Given the description of an element on the screen output the (x, y) to click on. 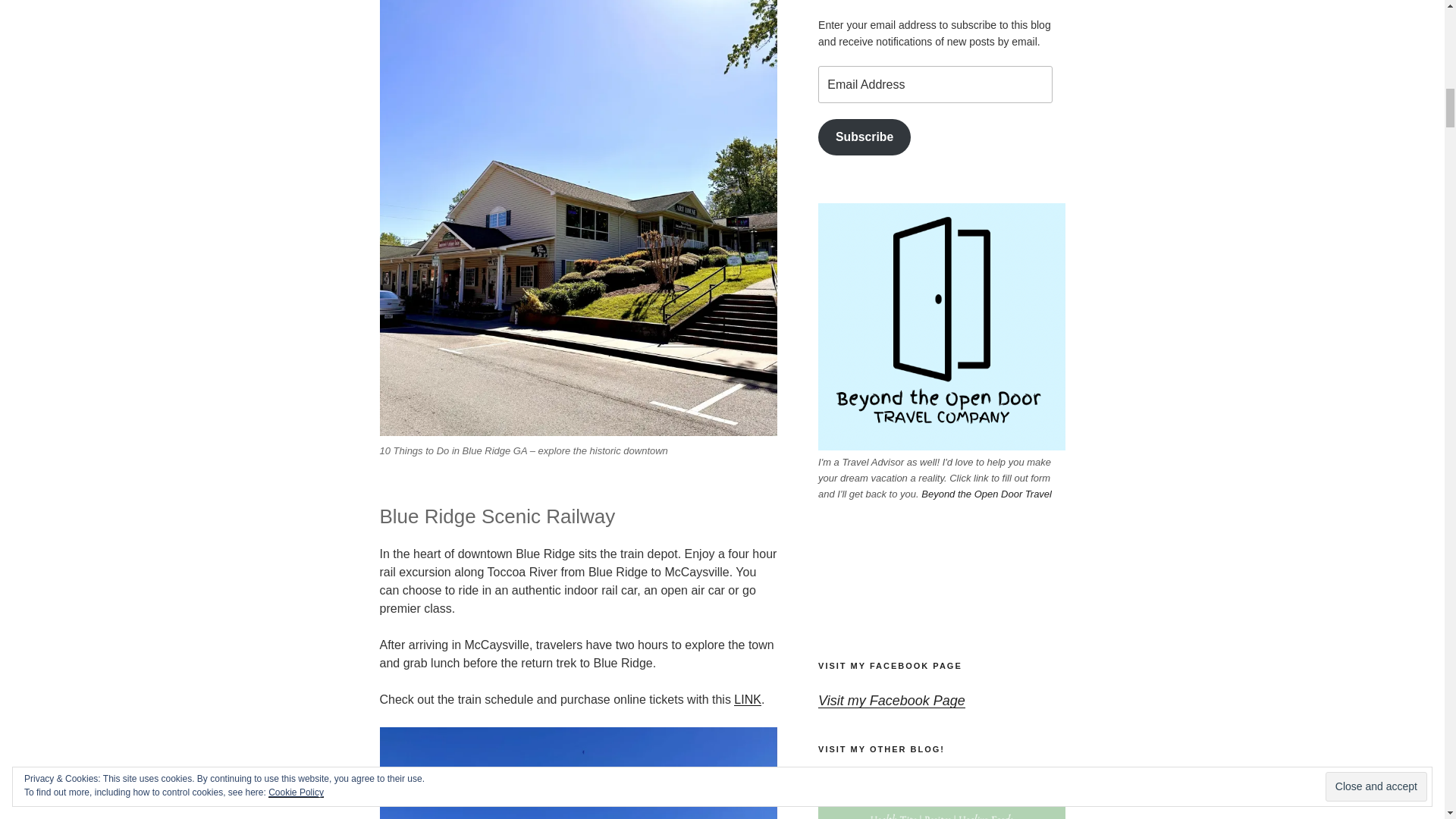
LINK (747, 698)
